Given the description of an element on the screen output the (x, y) to click on. 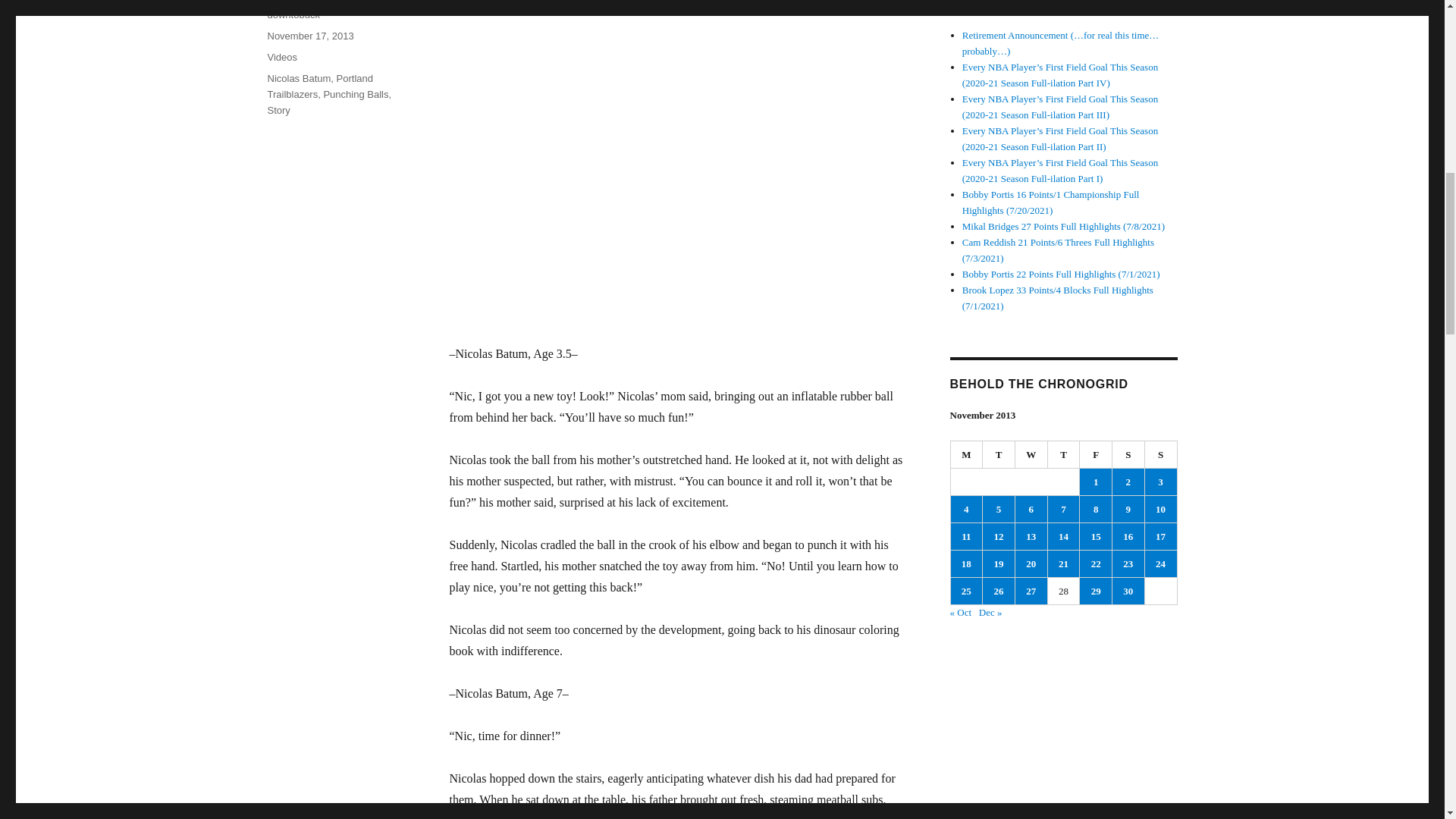
Thursday (1064, 454)
Tuesday (998, 454)
Sunday (1160, 454)
Wednesday (1031, 454)
Monday (967, 454)
Saturday (1128, 454)
Friday (1096, 454)
